Given the description of an element on the screen output the (x, y) to click on. 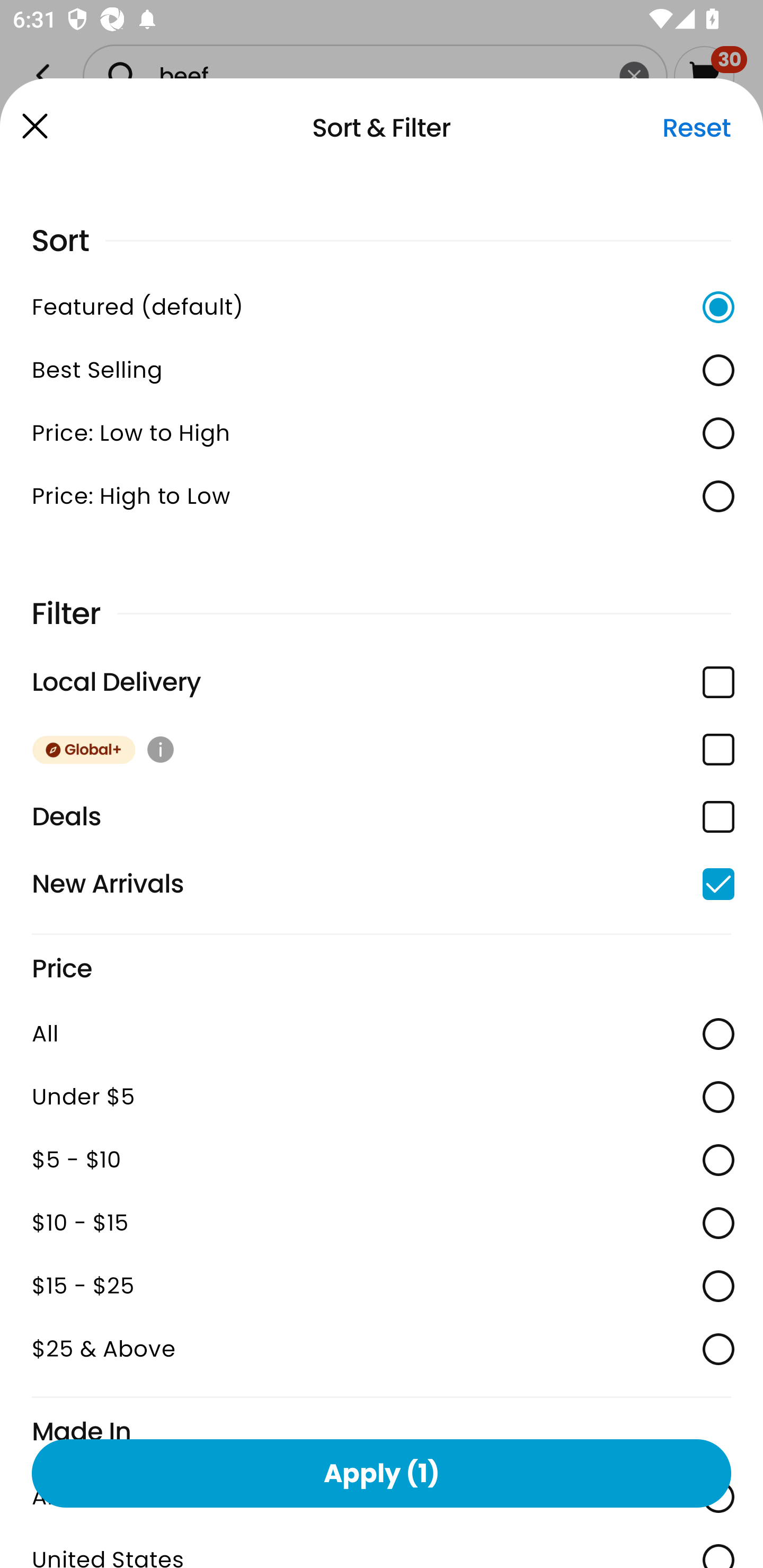
Reset (696, 127)
Apply (1) (381, 1472)
